Given the description of an element on the screen output the (x, y) to click on. 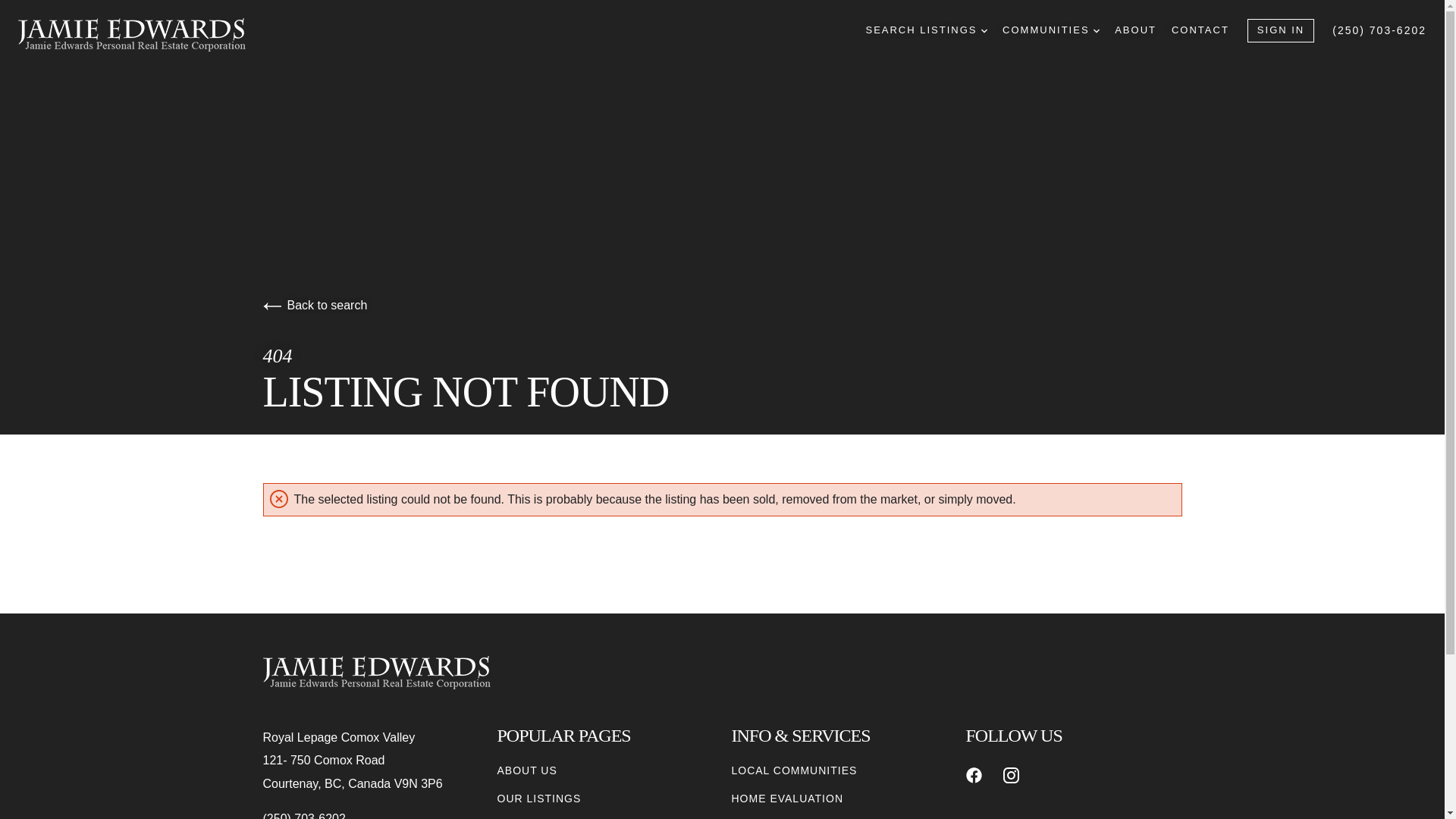
DROPDOWN ARROW (984, 30)
FACEBOOK (973, 774)
OUR LISTINGS (538, 798)
SEARCH LISTINGS DROPDOWN ARROW (925, 30)
ABOUT (1135, 30)
ABOUT US (527, 770)
Back to search (314, 305)
CONTACT (1200, 30)
SIGN IN (1280, 30)
DROPDOWN ARROW (1096, 30)
COMMUNITIES DROPDOWN ARROW (1051, 30)
